Given the description of an element on the screen output the (x, y) to click on. 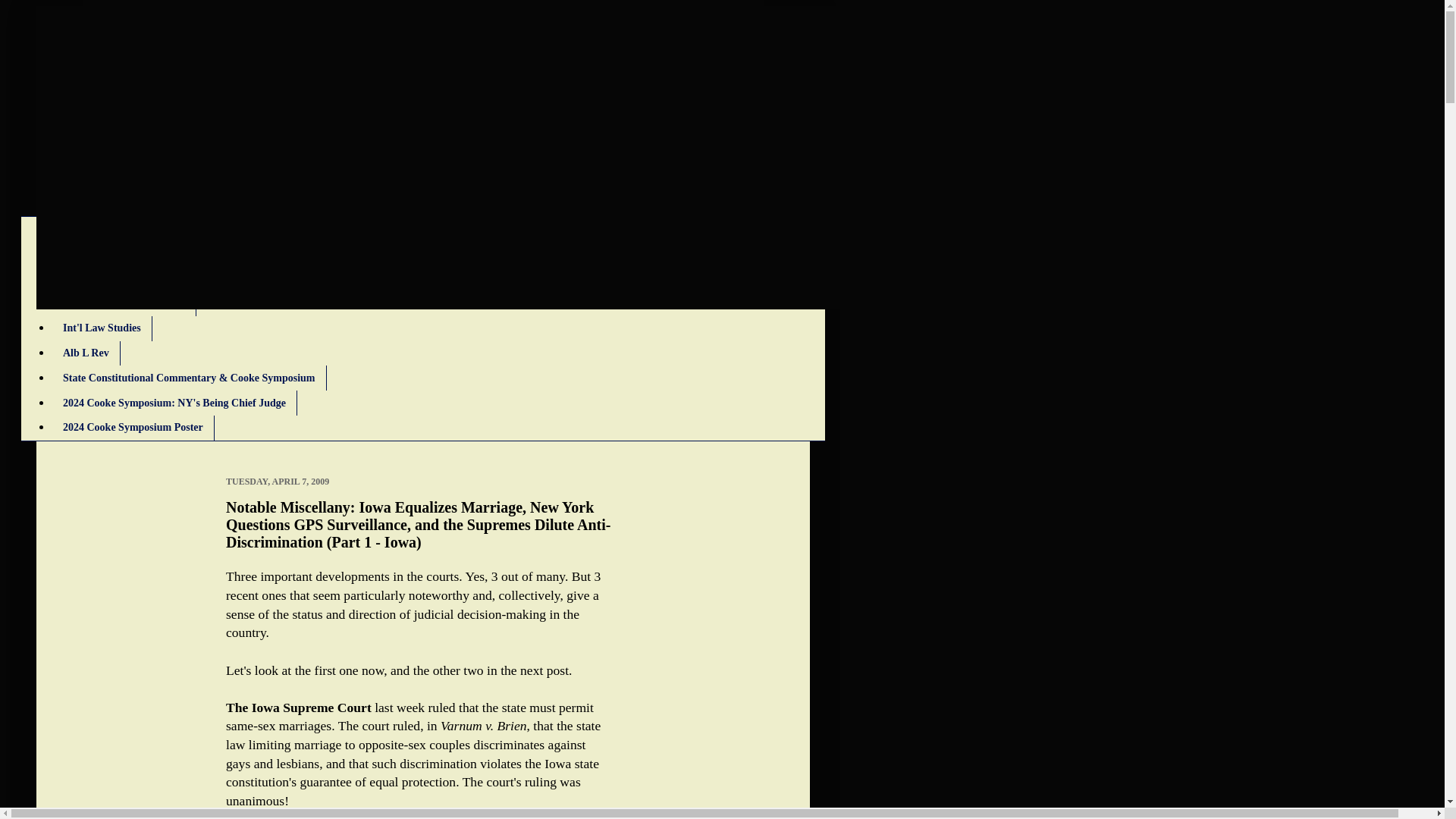
About NYCW (94, 253)
Alb L Rev (85, 353)
Int'l Law Studies (101, 328)
2024 Cooke Symposium: NY's Being Chief Judge (173, 402)
Home (75, 229)
About: Vin Bonventre (112, 278)
2024 Cooke Symposium Poster (132, 427)
New York Court Watcher (273, 77)
Center for Judicial Process (123, 303)
